Given the description of an element on the screen output the (x, y) to click on. 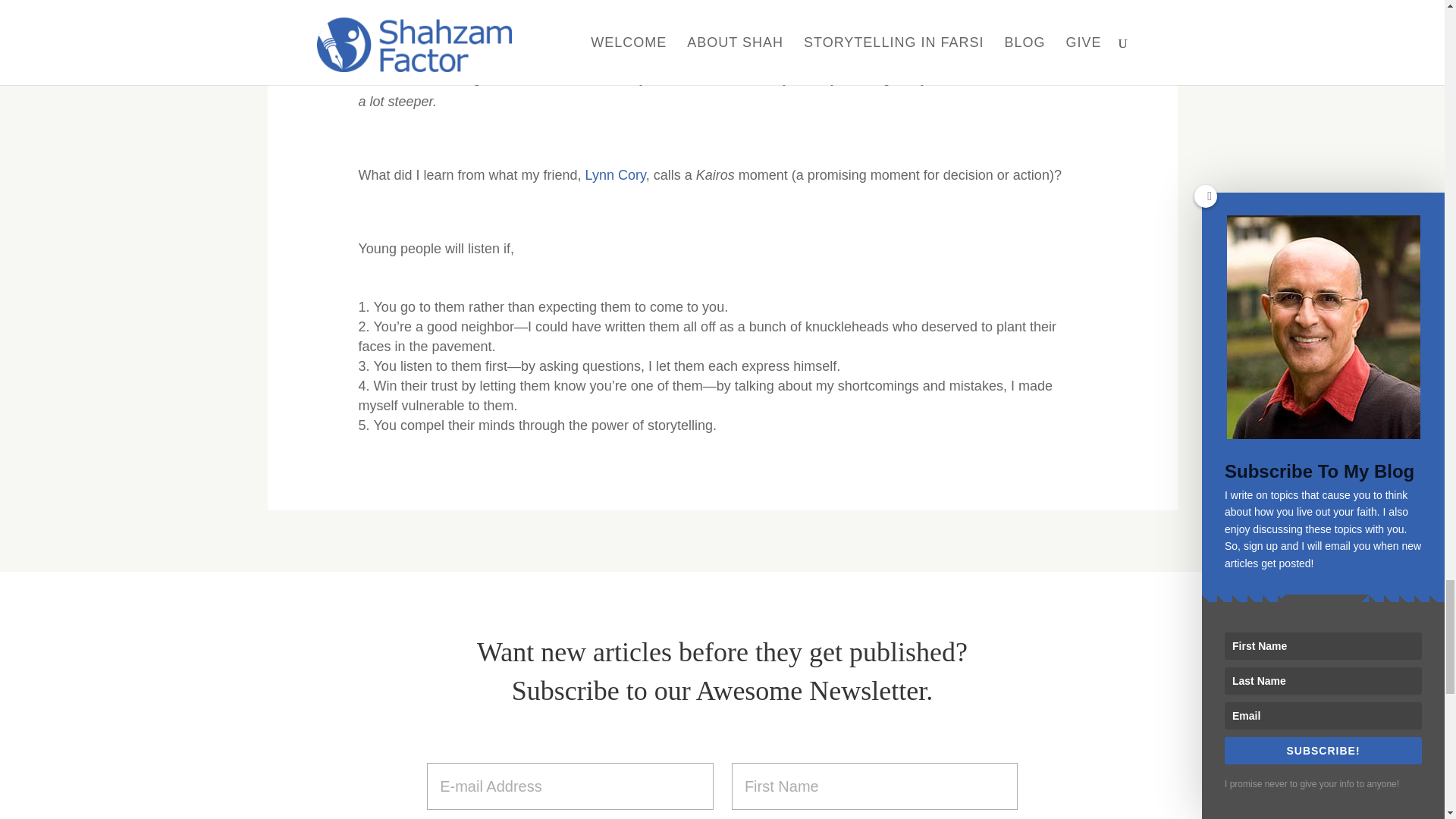
Lynn Cory (615, 174)
